Given the description of an element on the screen output the (x, y) to click on. 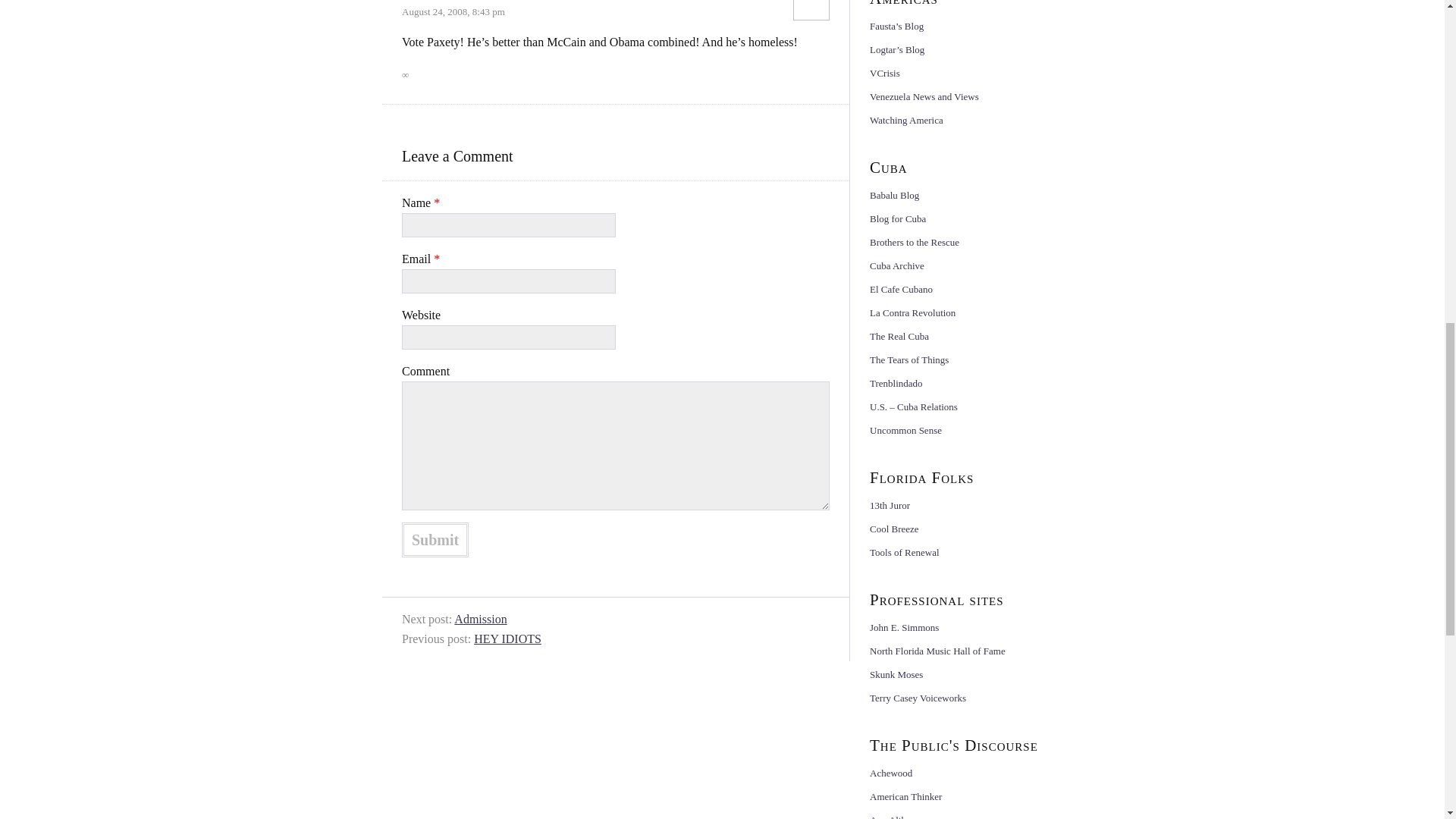
Submit (434, 539)
La Contra Revolution (912, 312)
Venezuela News and Views (923, 96)
El Cafe Cubano (901, 288)
Babalu Blog (893, 194)
The Tears of Things (909, 359)
An island on the net without a bearded dictator (893, 194)
The Real Cuba (898, 336)
Watching America (906, 120)
Submit (434, 539)
Brothers to the Rescue (914, 242)
VCrisis (884, 72)
Blog for Cuba (897, 218)
Cuba Archive (896, 265)
HEY IDIOTS (507, 638)
